Given the description of an element on the screen output the (x, y) to click on. 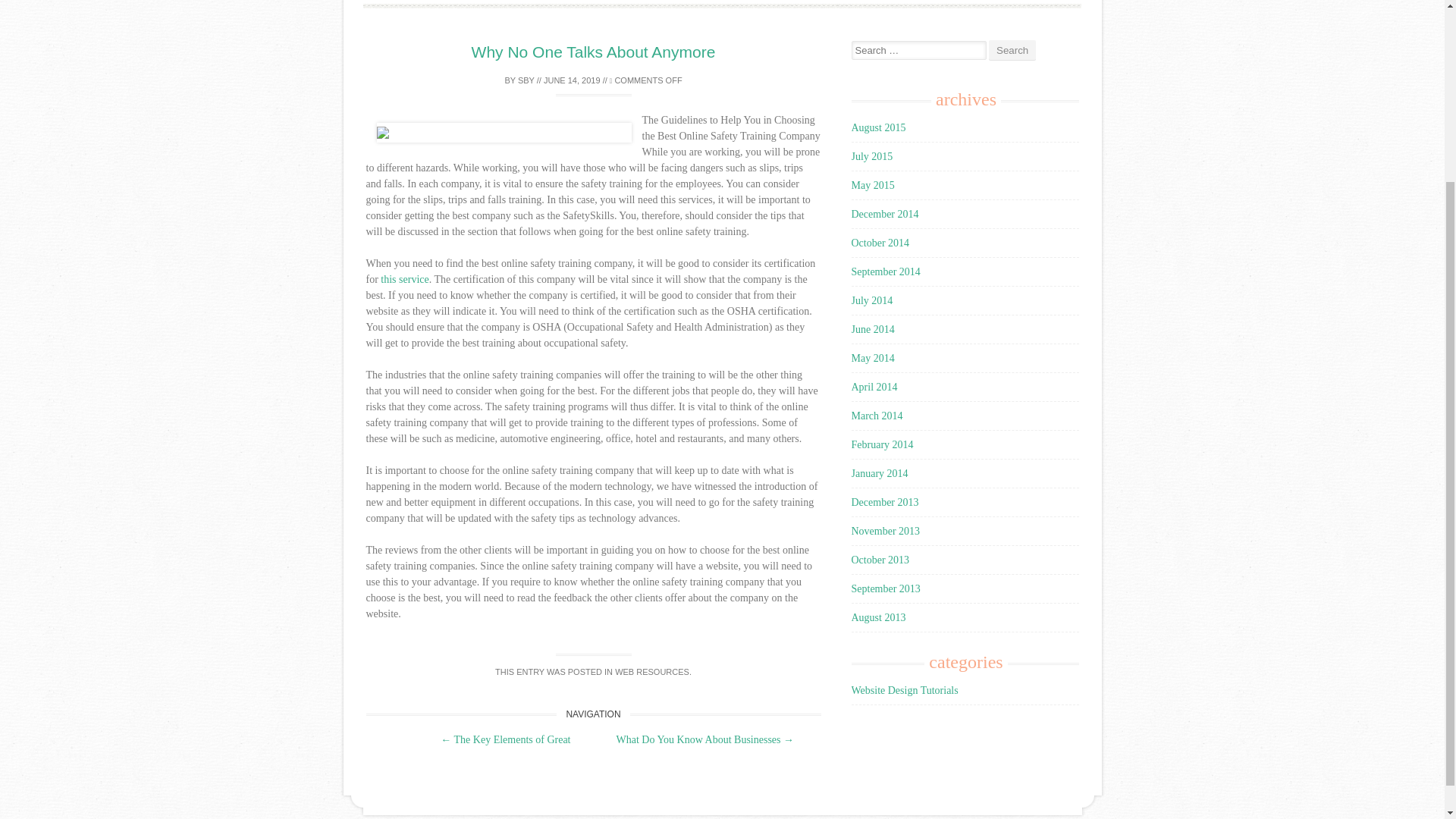
November 2013 (885, 531)
Website Design Tutorials (904, 690)
October 2014 (879, 242)
September 2014 (885, 271)
WEBSITE DESIGN TUTORIALS (721, 2)
JUNE 14, 2019 (571, 79)
May 2015 (871, 184)
July 2015 (871, 156)
Search (1011, 50)
COMMENTS OFF (646, 79)
Search (1011, 50)
May 2014 (871, 357)
View all posts by sby (526, 79)
December 2014 (884, 214)
August 2013 (877, 617)
